Given the description of an element on the screen output the (x, y) to click on. 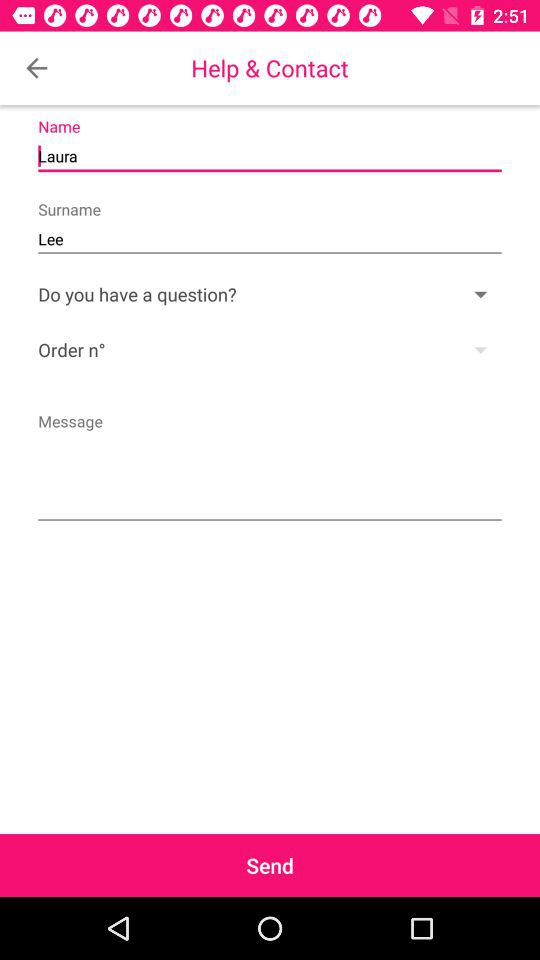
enter a messasge (270, 465)
